Given the description of an element on the screen output the (x, y) to click on. 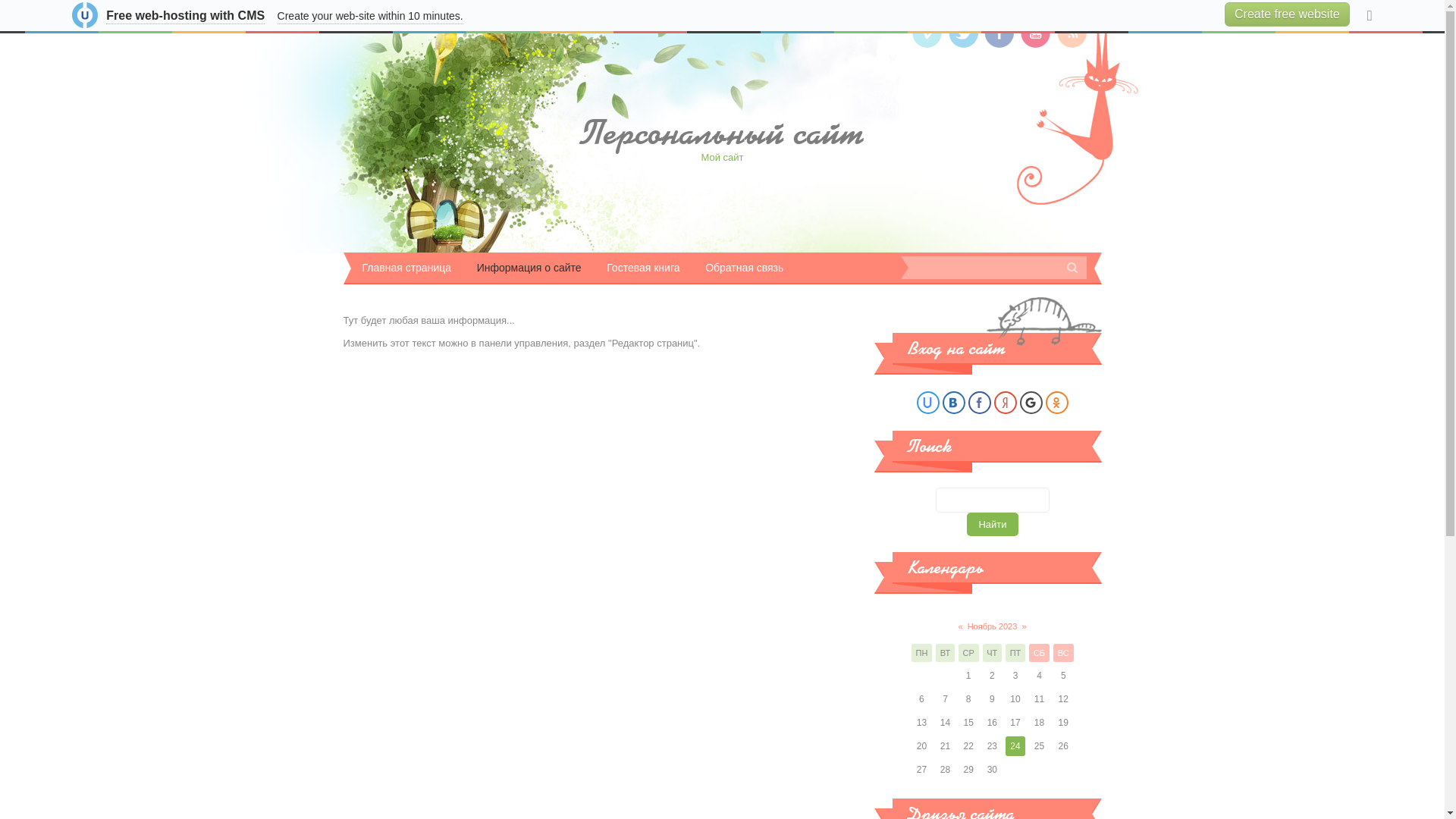
Search Element type: text (1072, 267)
